Given the description of an element on the screen output the (x, y) to click on. 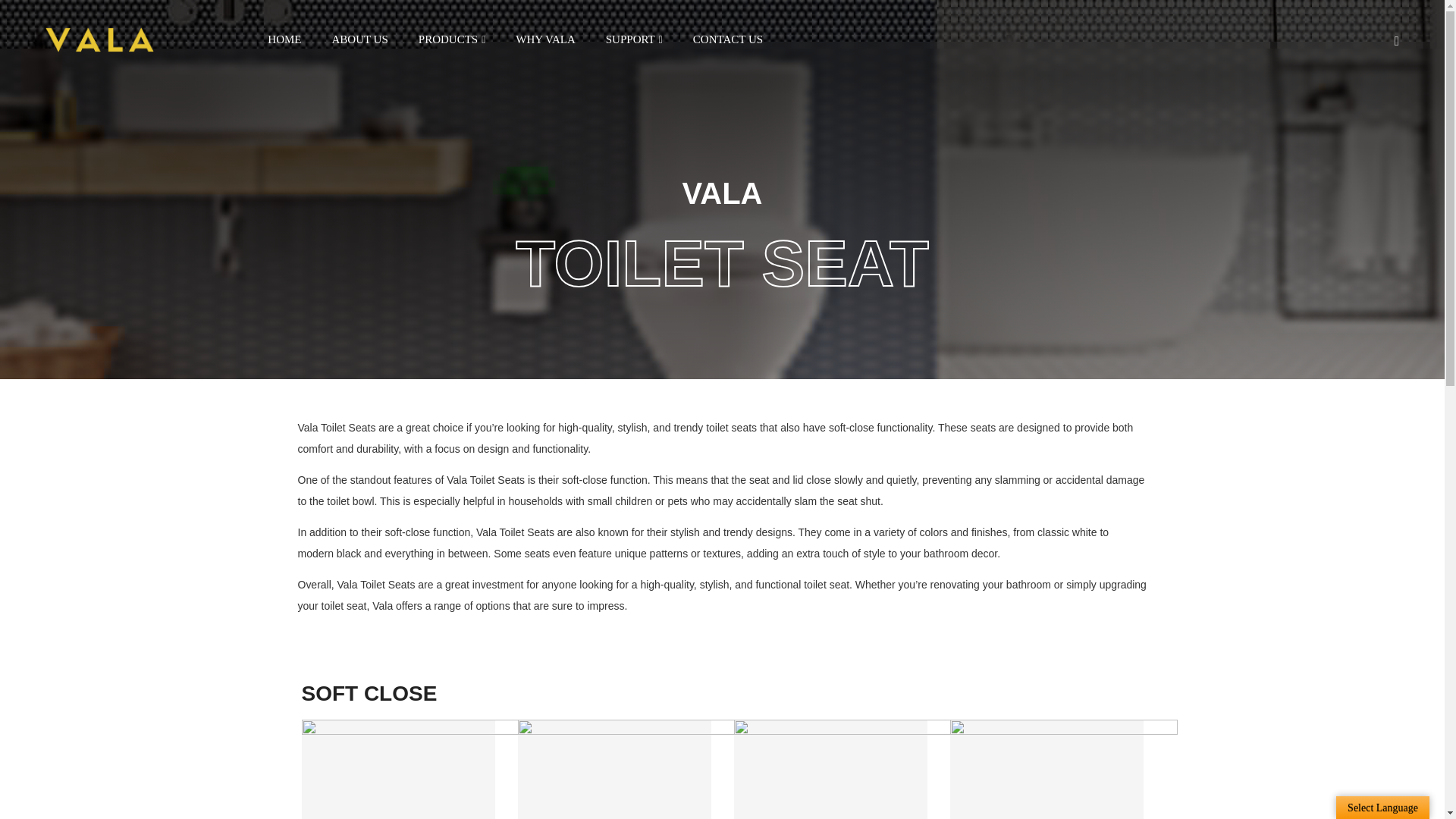
PRODUCTS (451, 39)
ABOUT US (359, 39)
WHY VALA (545, 39)
SUPPORT (633, 39)
CONTACT US (727, 39)
HOME (284, 39)
